Given the description of an element on the screen output the (x, y) to click on. 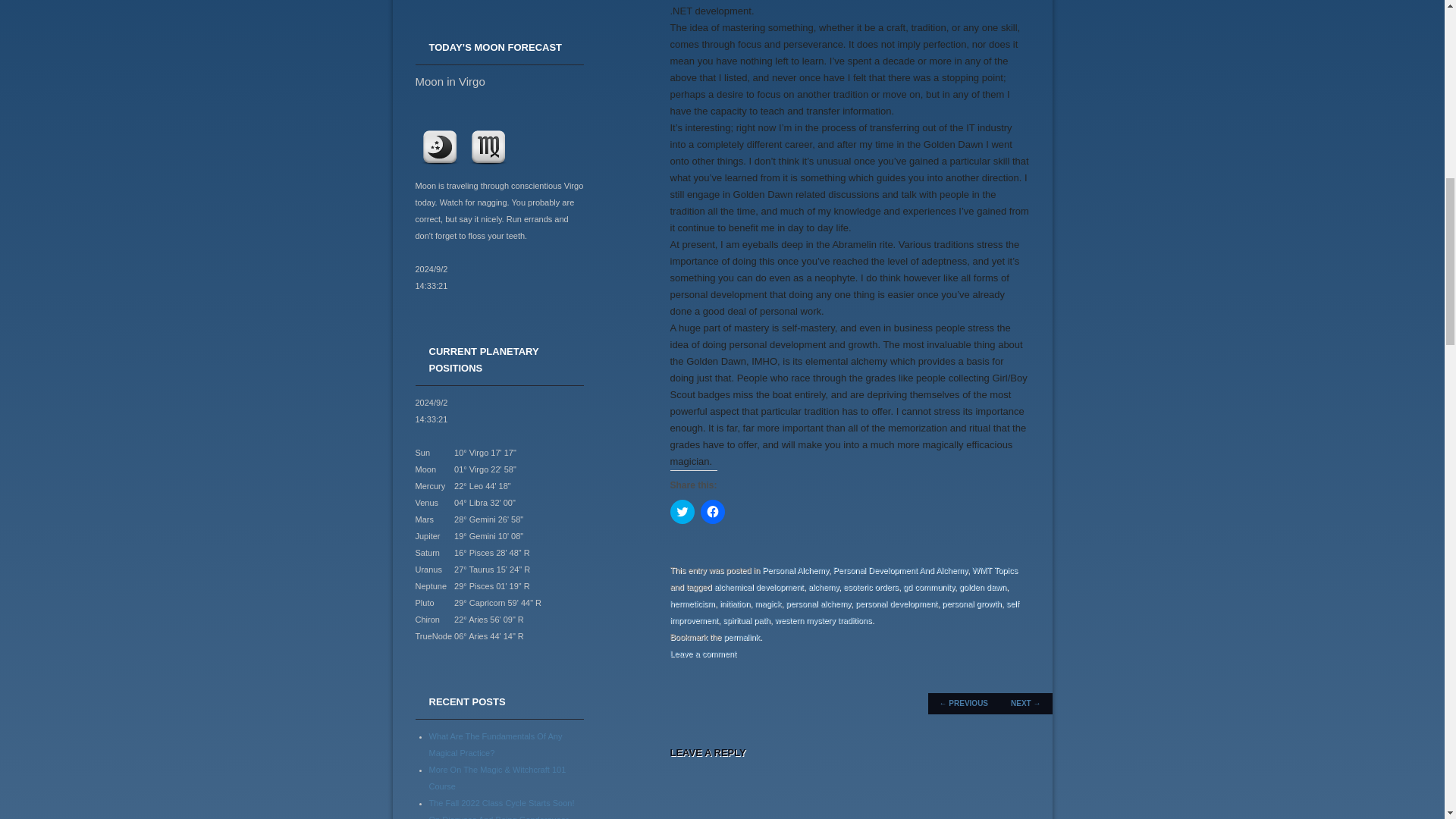
permalink (741, 636)
western mystery traditions (823, 619)
Leave a comment (702, 653)
self improvement (844, 611)
Personal Development And Alchemy (900, 569)
magick (767, 603)
personal development (896, 603)
alchemy (823, 586)
The Fall 2022 Class Cycle Starts Soon! (502, 802)
personal growth (971, 603)
